Given the description of an element on the screen output the (x, y) to click on. 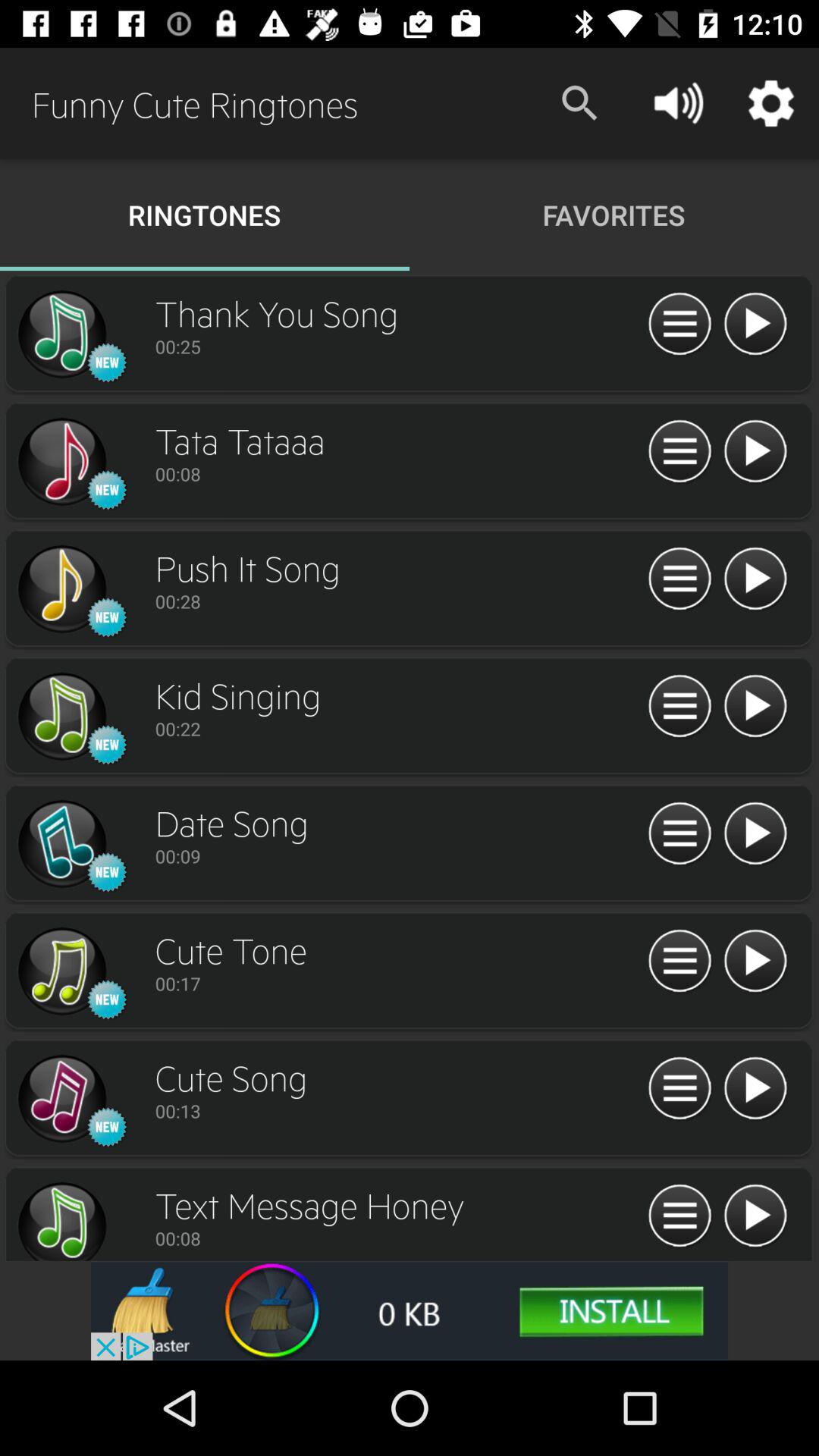
play (755, 579)
